Given the description of an element on the screen output the (x, y) to click on. 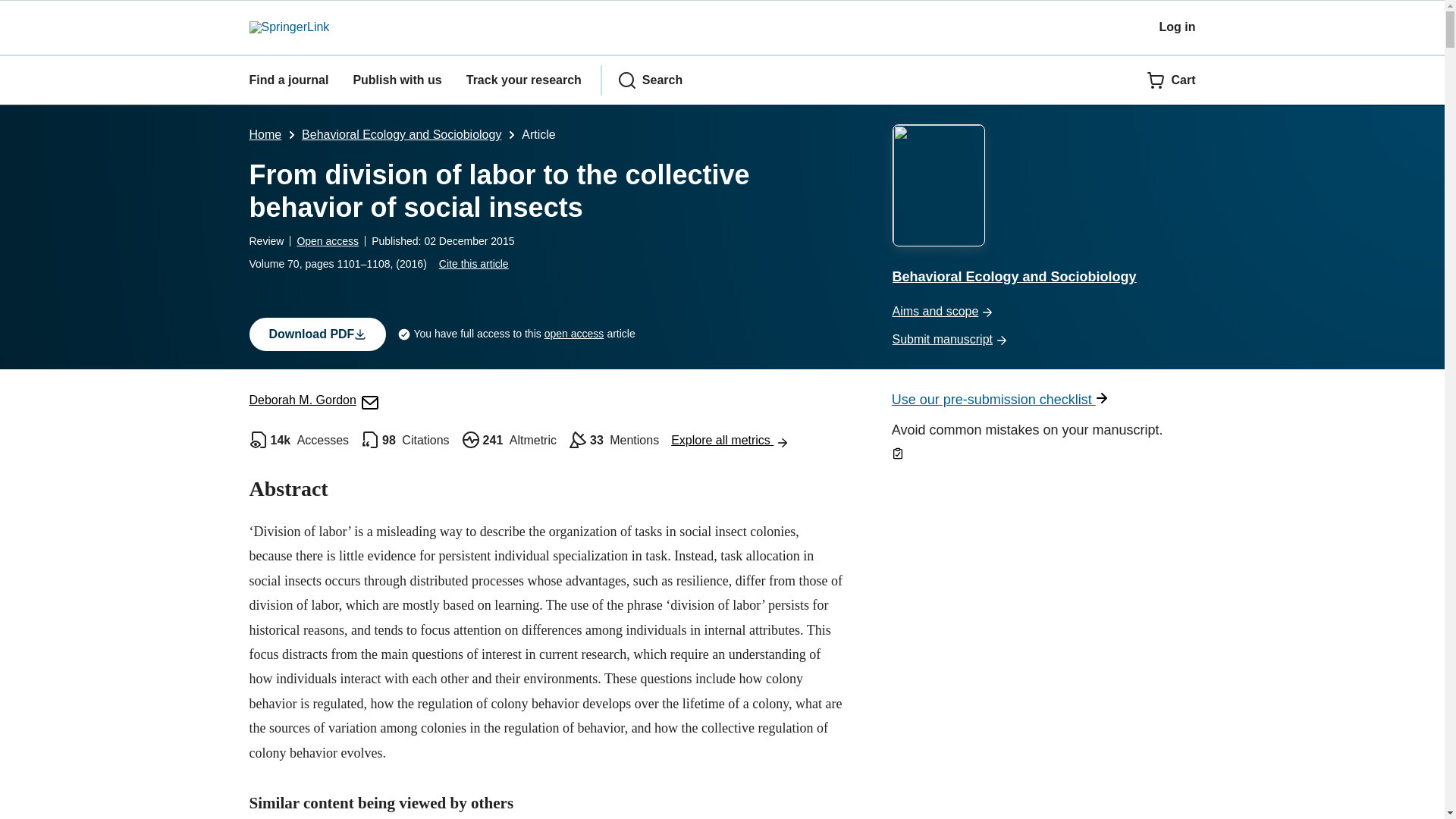
Download PDF (316, 334)
Open access (327, 241)
Cite this article (473, 263)
Search (649, 79)
Deborah M. Gordon (313, 399)
Home (264, 133)
open access (574, 333)
Log in (1177, 26)
Cart (1170, 79)
Behavioral Ecology and Sociobiology (400, 133)
